Given the description of an element on the screen output the (x, y) to click on. 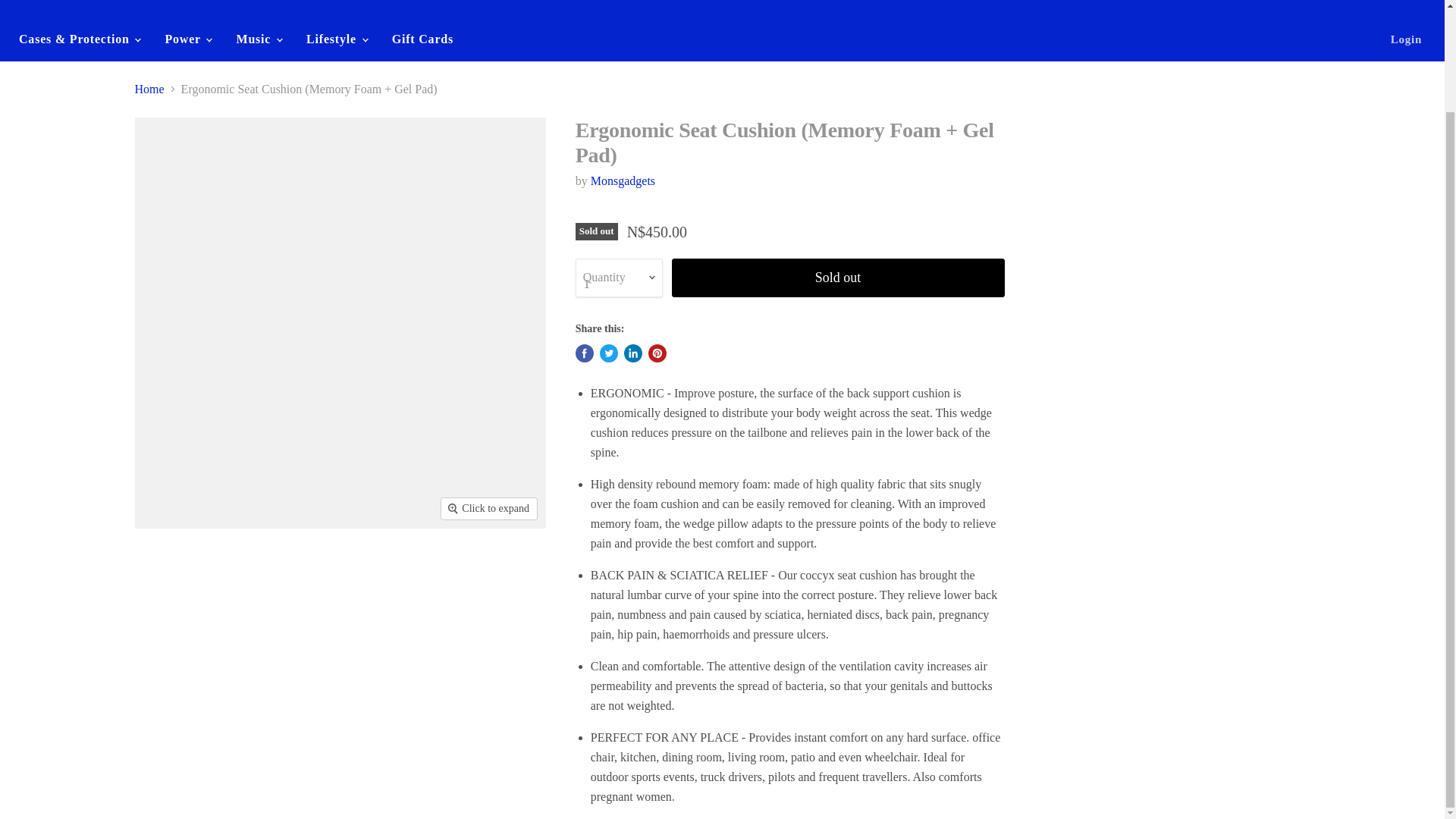
Monsgadgets (623, 180)
